Given the description of an element on the screen output the (x, y) to click on. 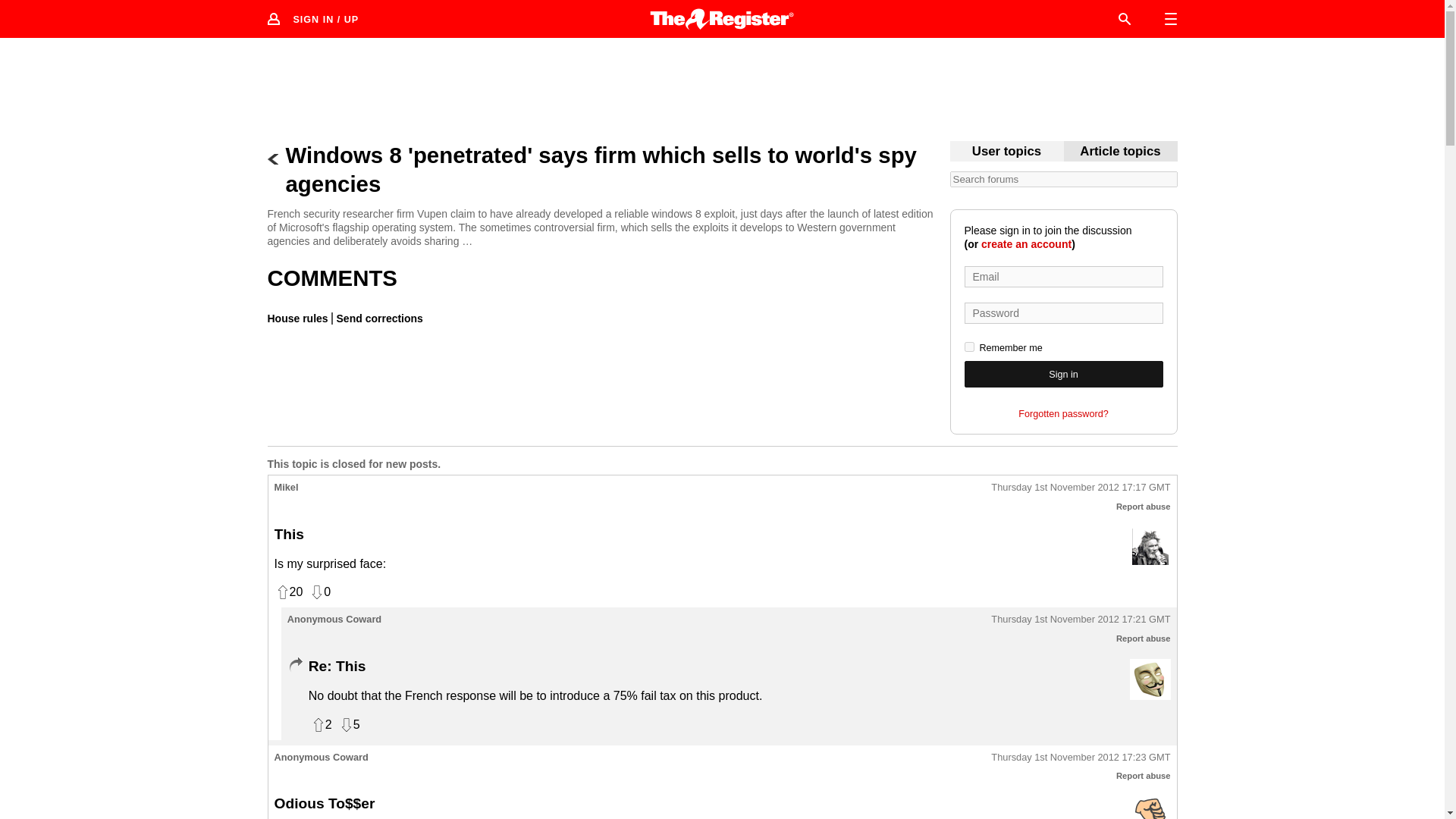
For corrections, please use link below article copy, kthxbye (1120, 151)
Forgotten password? (1063, 413)
Like this post? Vote for it! (288, 591)
Posted by a snivelling, miserable coward (1149, 679)
Dislike this post? Vote it down! (348, 724)
Inappropriate post? Report it to our moderators (1143, 506)
Permalink to this post (1080, 487)
Report abuse (1143, 637)
Sign in (1063, 374)
Report abuse (1143, 506)
